Given the description of an element on the screen output the (x, y) to click on. 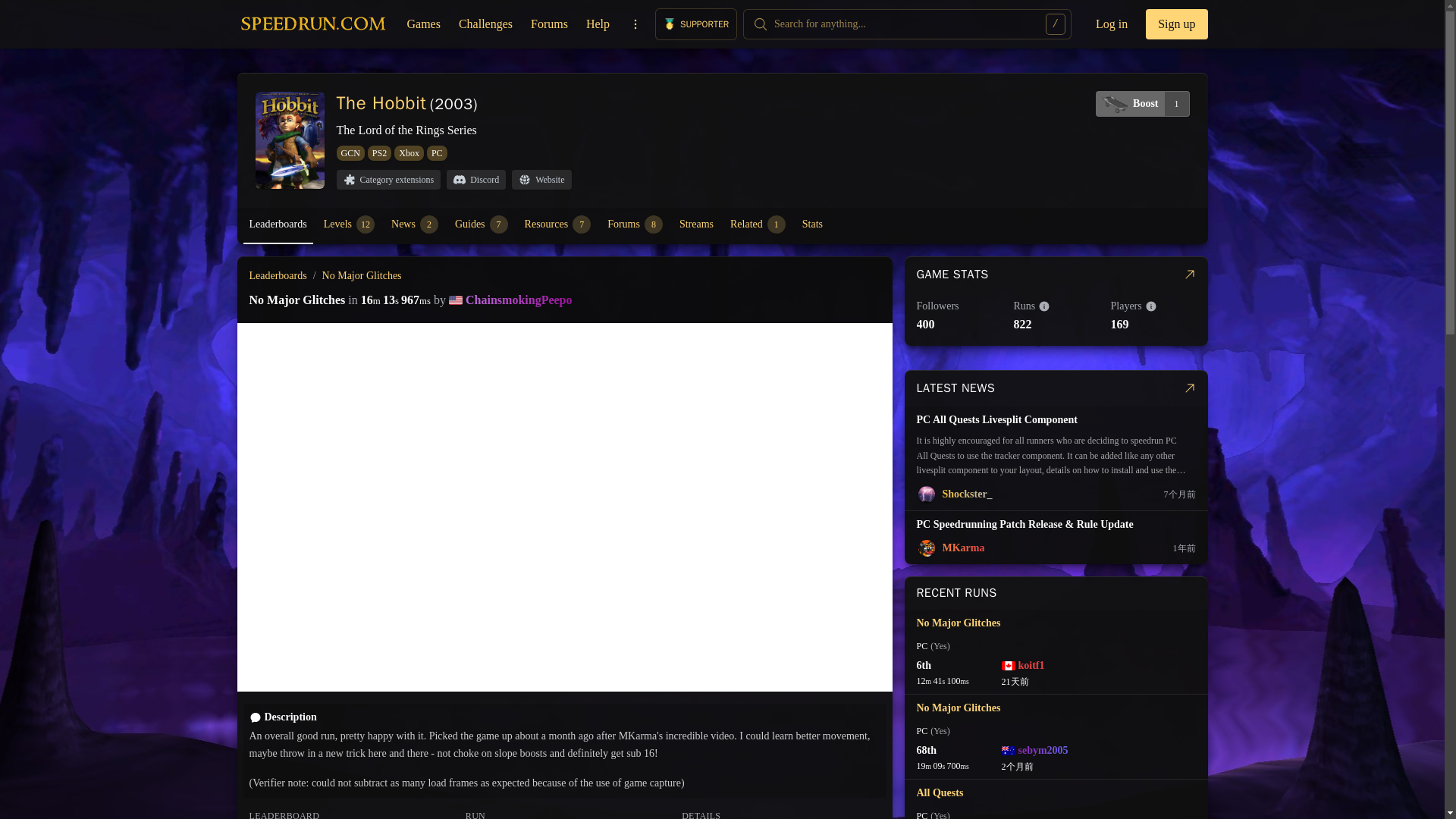
Help (597, 24)
The Lord of the Rings Series (1142, 103)
Sign up (406, 130)
Challenges (557, 225)
GCN (1176, 24)
PS2 (485, 24)
Log in (350, 152)
Category extensions (379, 152)
